Given the description of an element on the screen output the (x, y) to click on. 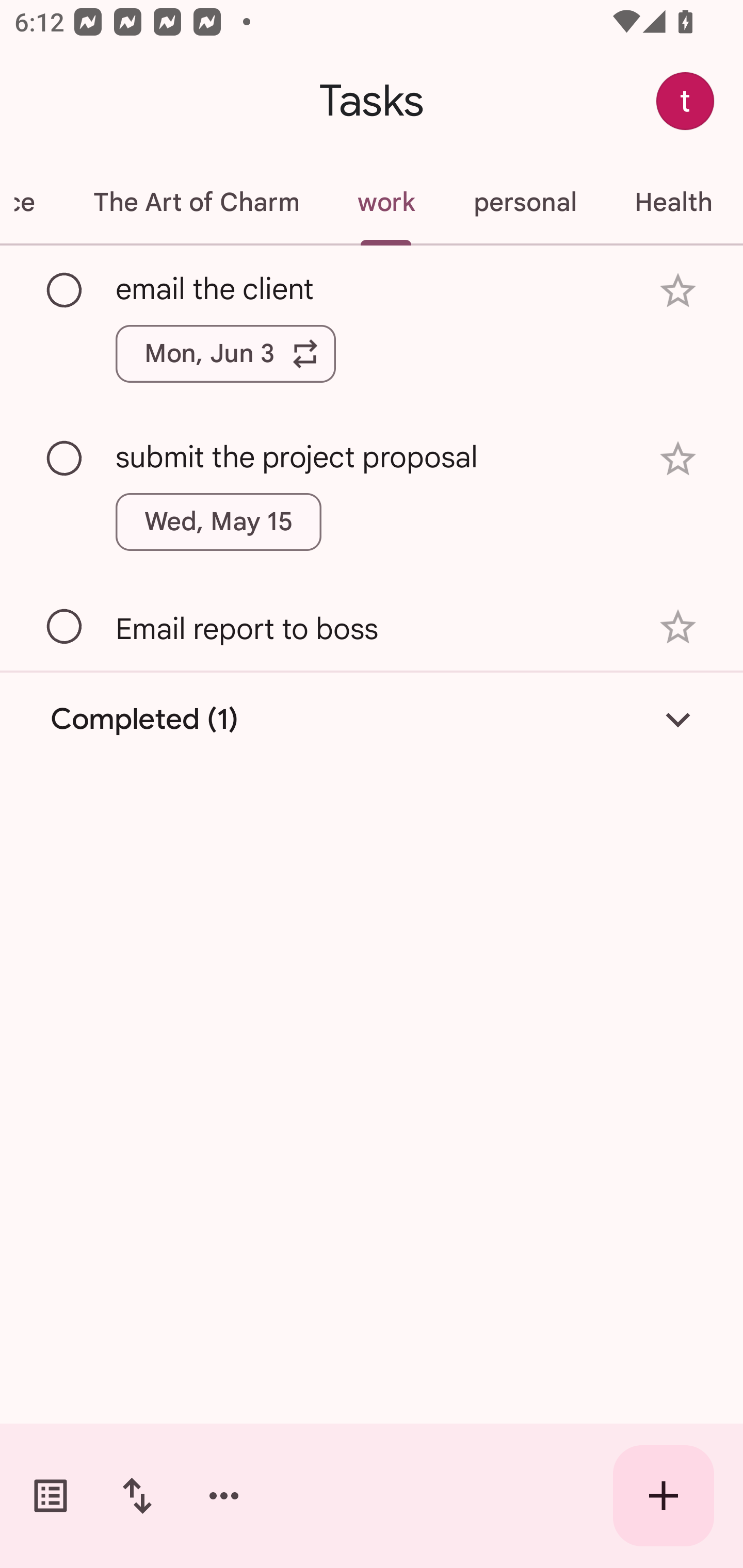
The Art of Charm (195, 202)
personal (524, 202)
Health (673, 202)
Add star (677, 290)
Mark as complete (64, 290)
Mon, Jun 3 (225, 353)
Add star (677, 458)
Mark as complete (64, 459)
Wed, May 15 (218, 522)
Add star (677, 627)
Mark as complete (64, 627)
Completed (1) (371, 719)
Switch task lists (50, 1495)
Create new task (663, 1495)
Change sort order (136, 1495)
More options (223, 1495)
